Given the description of an element on the screen output the (x, y) to click on. 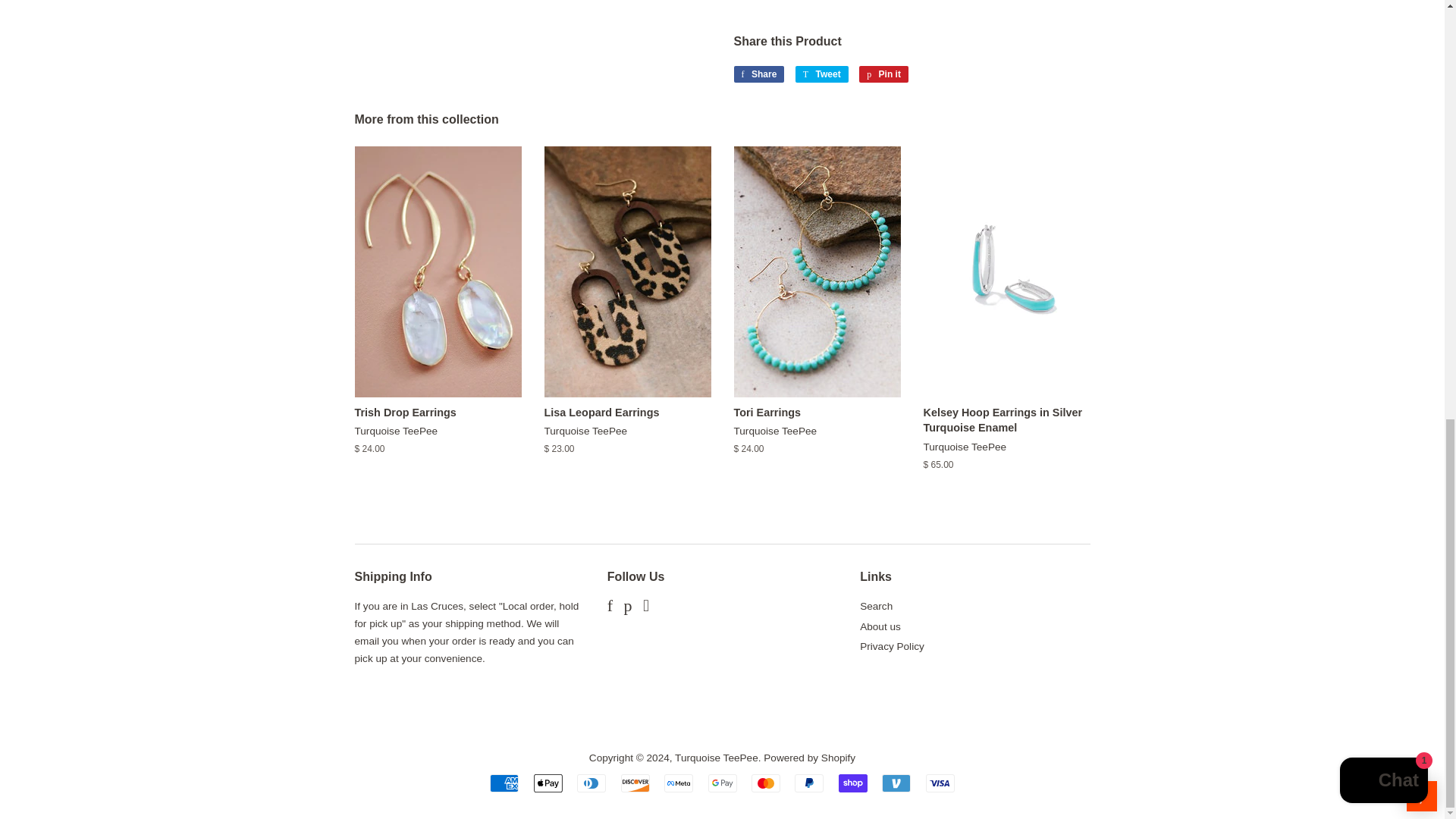
Google Pay (721, 782)
Diners Club (590, 782)
Discover (635, 782)
Meta Pay (678, 782)
Venmo (896, 782)
Pin on Pinterest (883, 74)
American Express (503, 782)
Shop Pay (852, 782)
PayPal (809, 782)
Visa (940, 782)
Share on Facebook (758, 74)
Mastercard (765, 782)
Tweet on Twitter (821, 74)
Apple Pay (548, 782)
